Given the description of an element on the screen output the (x, y) to click on. 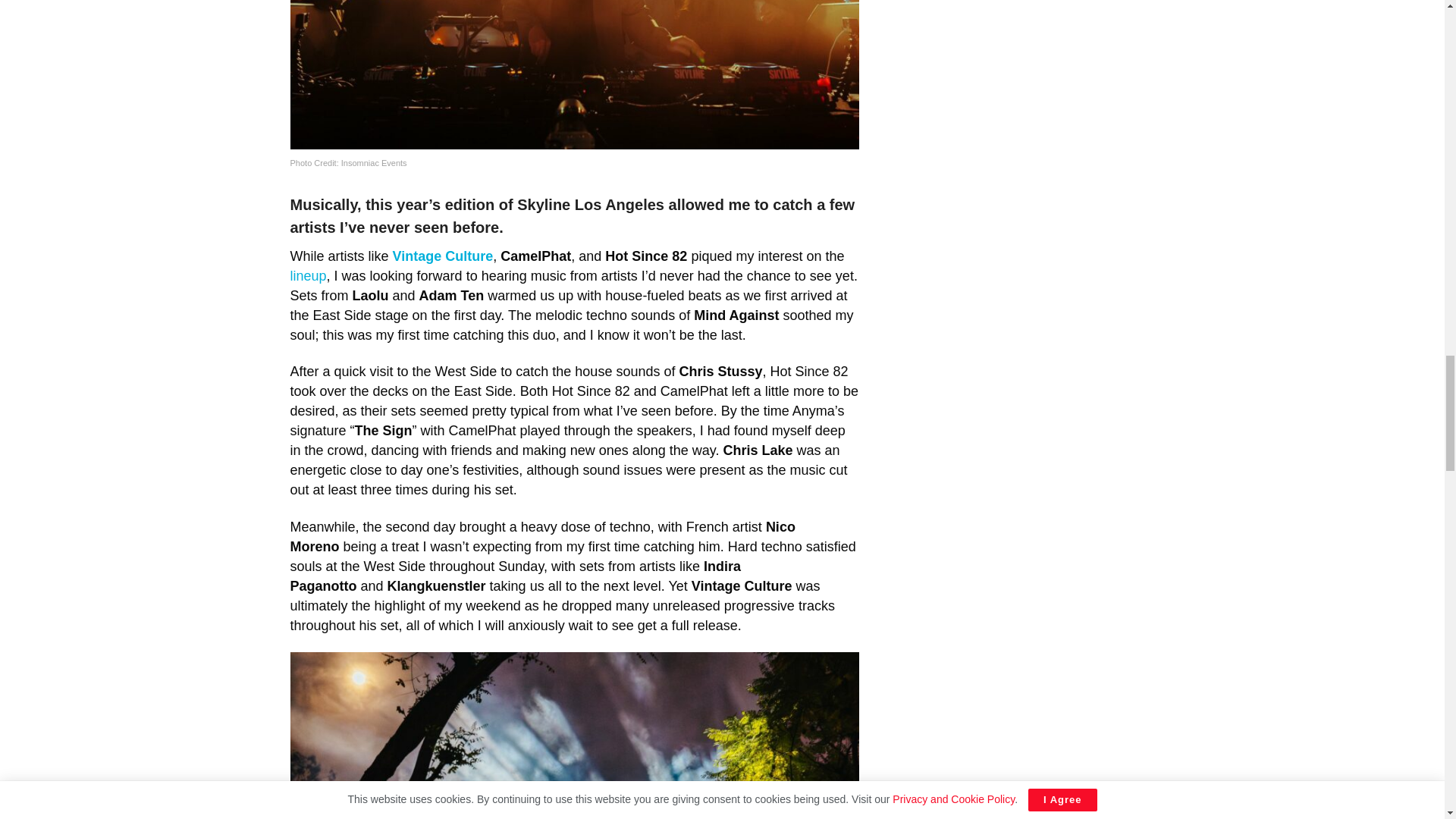
lineup (307, 275)
Vintage Culture (443, 255)
